Given the description of an element on the screen output the (x, y) to click on. 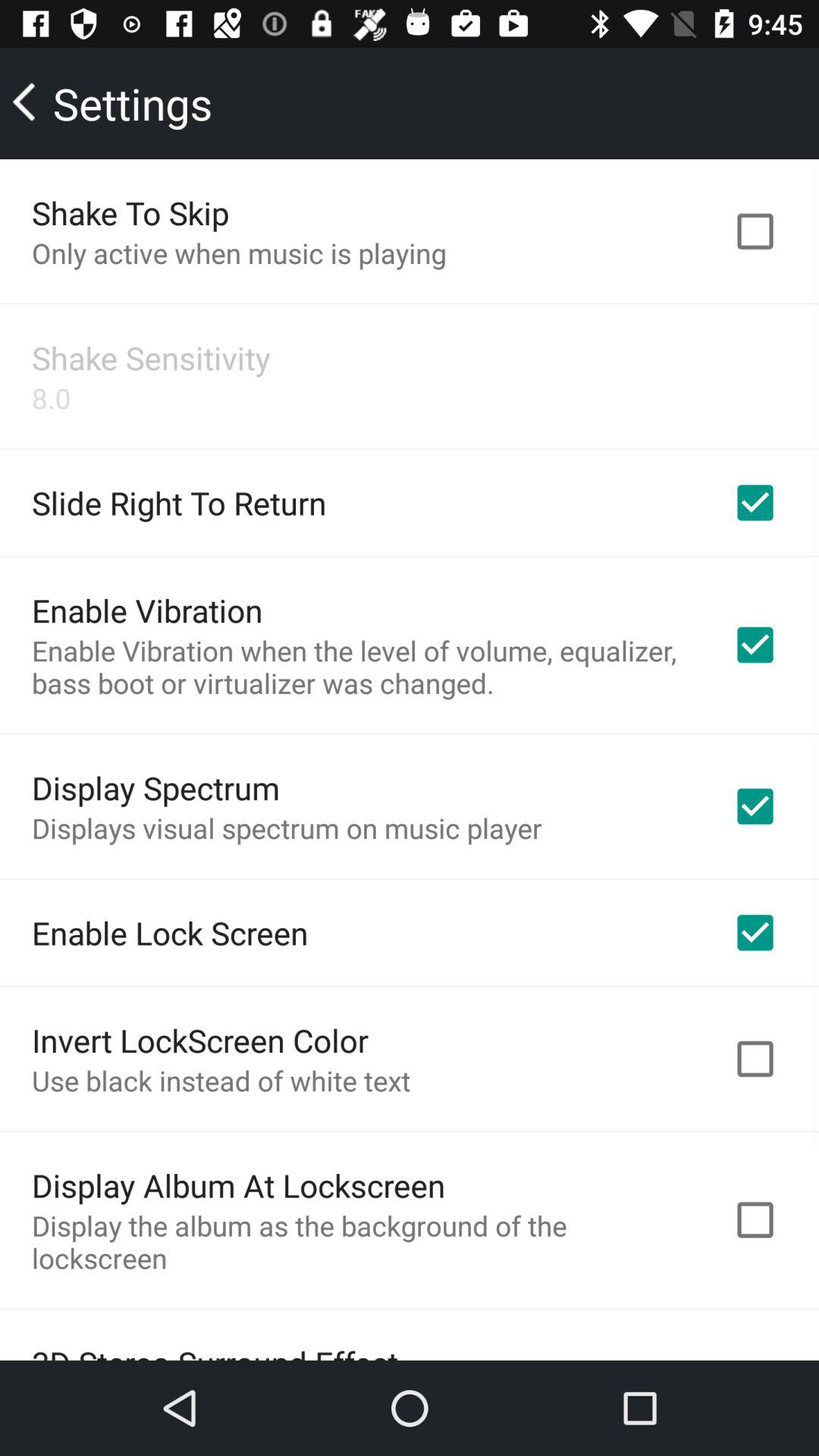
swipe to the 8.0 item (51, 397)
